Given the description of an element on the screen output the (x, y) to click on. 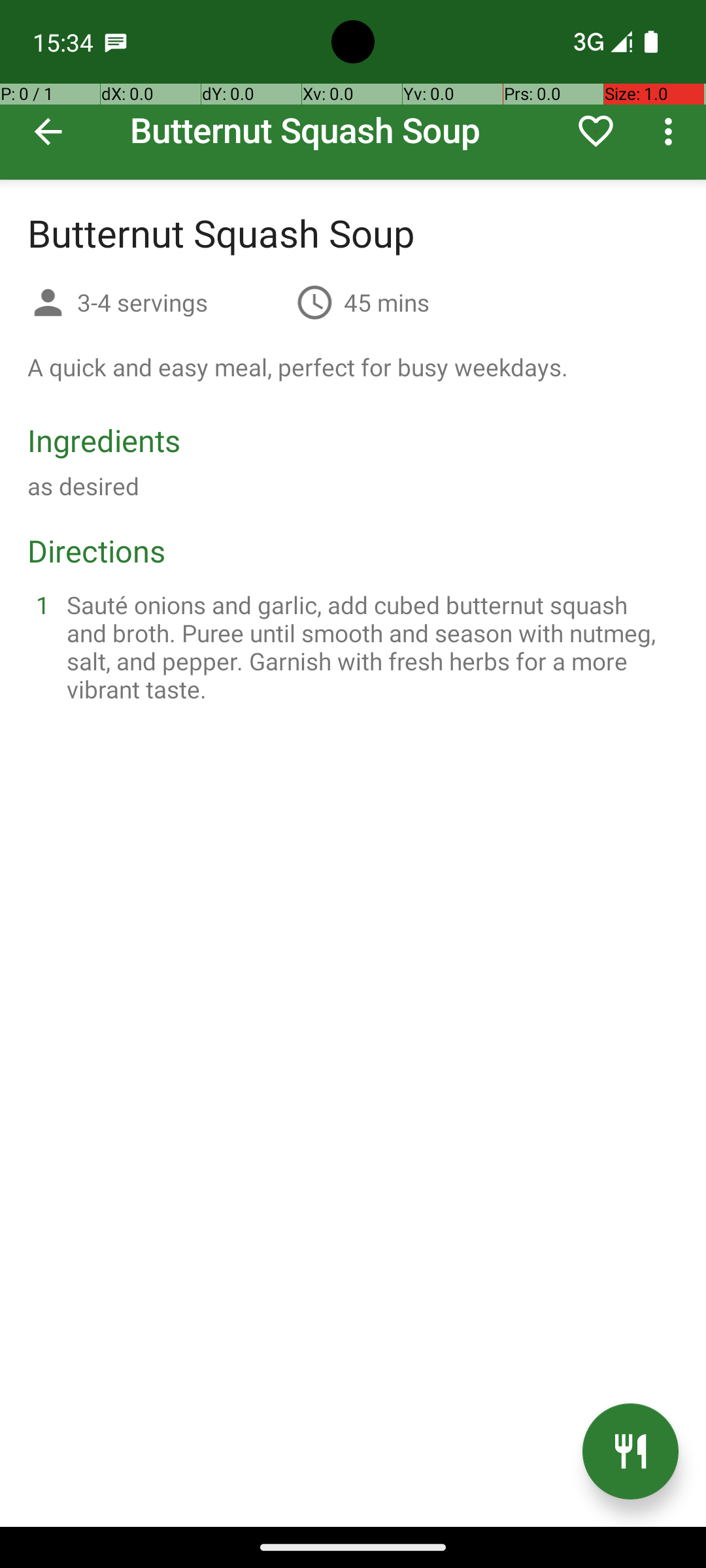
as desired Element type: android.widget.TextView (83, 485)
Sauté onions and garlic, add cubed butternut squash and broth. Puree until smooth and season with nutmeg, salt, and pepper. Garnish with fresh herbs for a more vibrant taste. Element type: android.widget.TextView (368, 646)
